Given the description of an element on the screen output the (x, y) to click on. 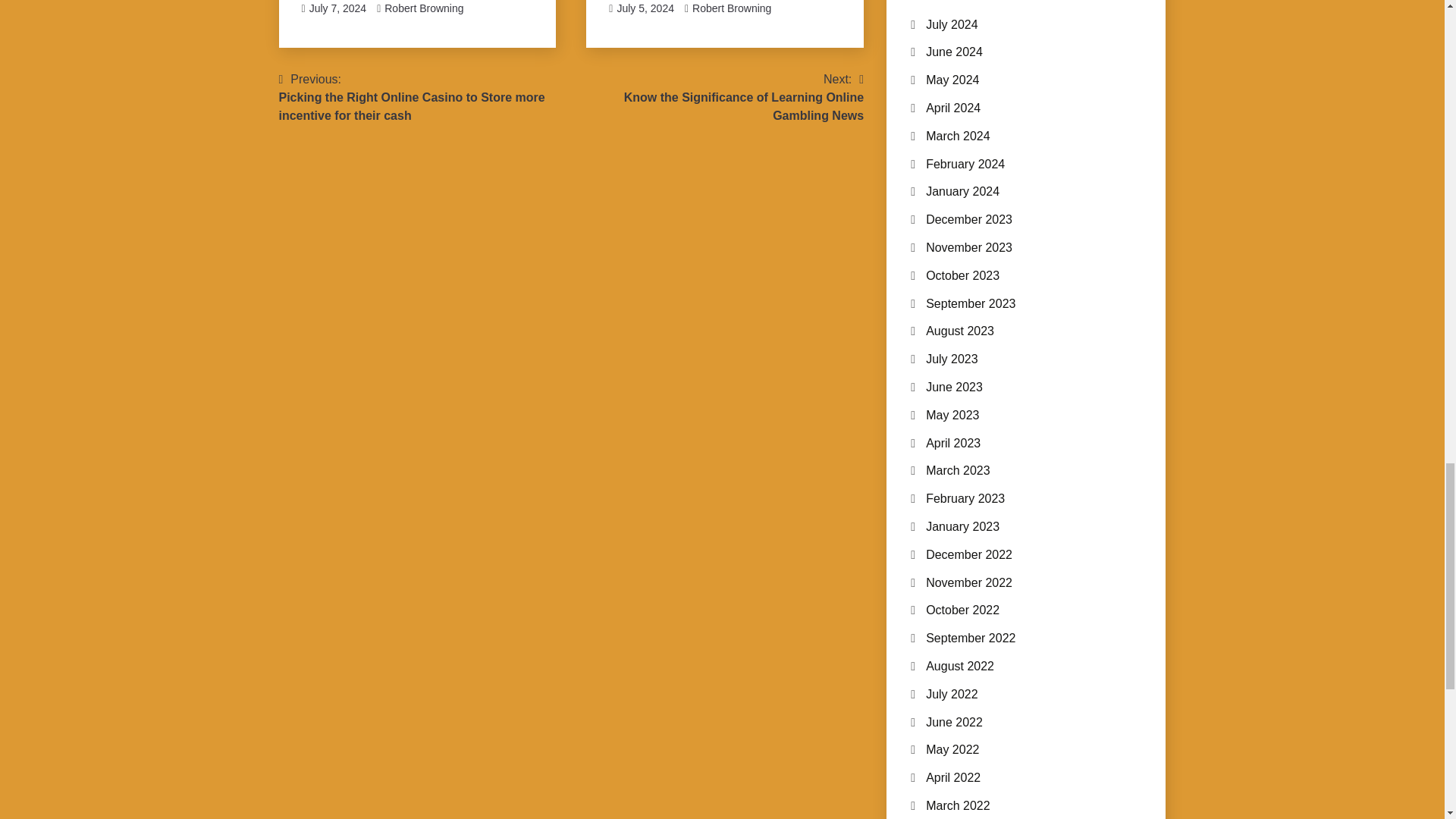
Robert Browning (423, 8)
July 5, 2024 (644, 8)
Robert Browning (716, 97)
July 7, 2024 (732, 8)
